Given the description of an element on the screen output the (x, y) to click on. 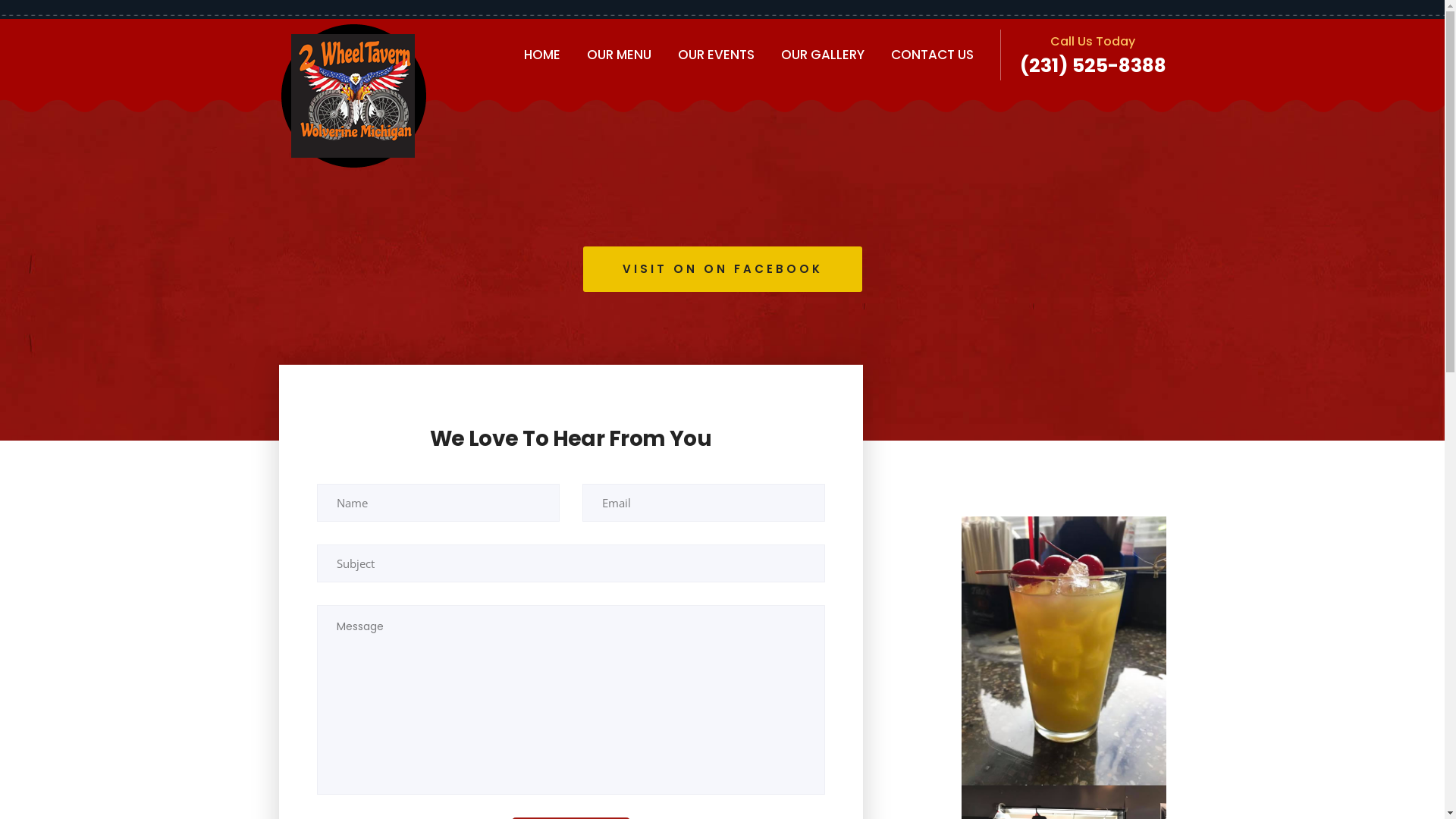
OUR GALLERY Element type: text (822, 54)
CONTACT US Element type: text (931, 54)
OUR EVENTS Element type: text (715, 54)
HOME Element type: text (541, 54)
VISIT ON ON FACEBOOK Element type: text (721, 268)
(231) 525-8388 Element type: text (1092, 65)
OUR MENU Element type: text (618, 54)
